Given the description of an element on the screen output the (x, y) to click on. 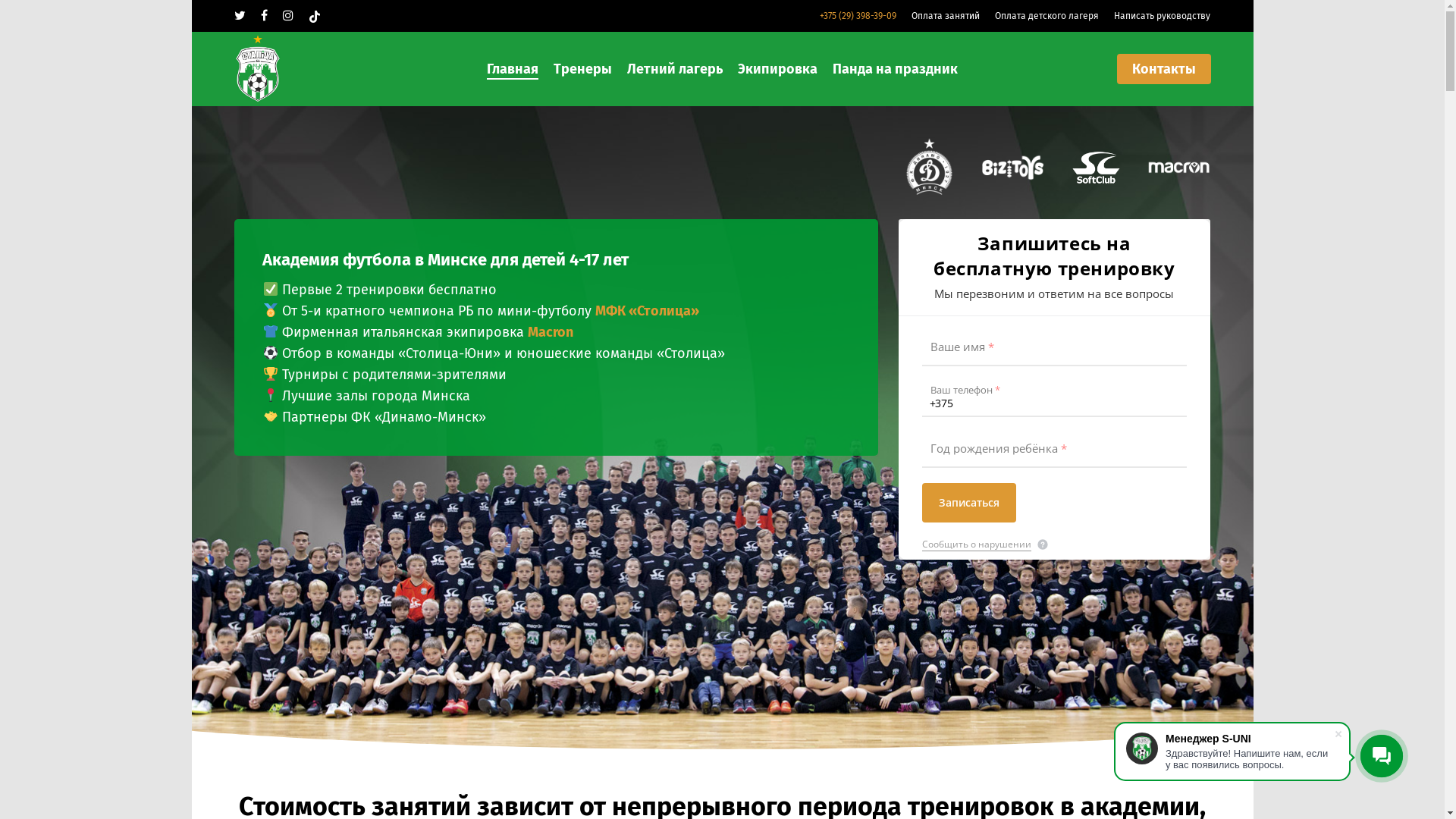
twitter Element type: text (239, 15)
facebook Element type: text (263, 15)
instagram Element type: text (287, 15)
Macron Element type: text (550, 331)
tiktok Element type: text (314, 15)
+375 (29) 398-39-09 Element type: text (857, 15)
